Given the description of an element on the screen output the (x, y) to click on. 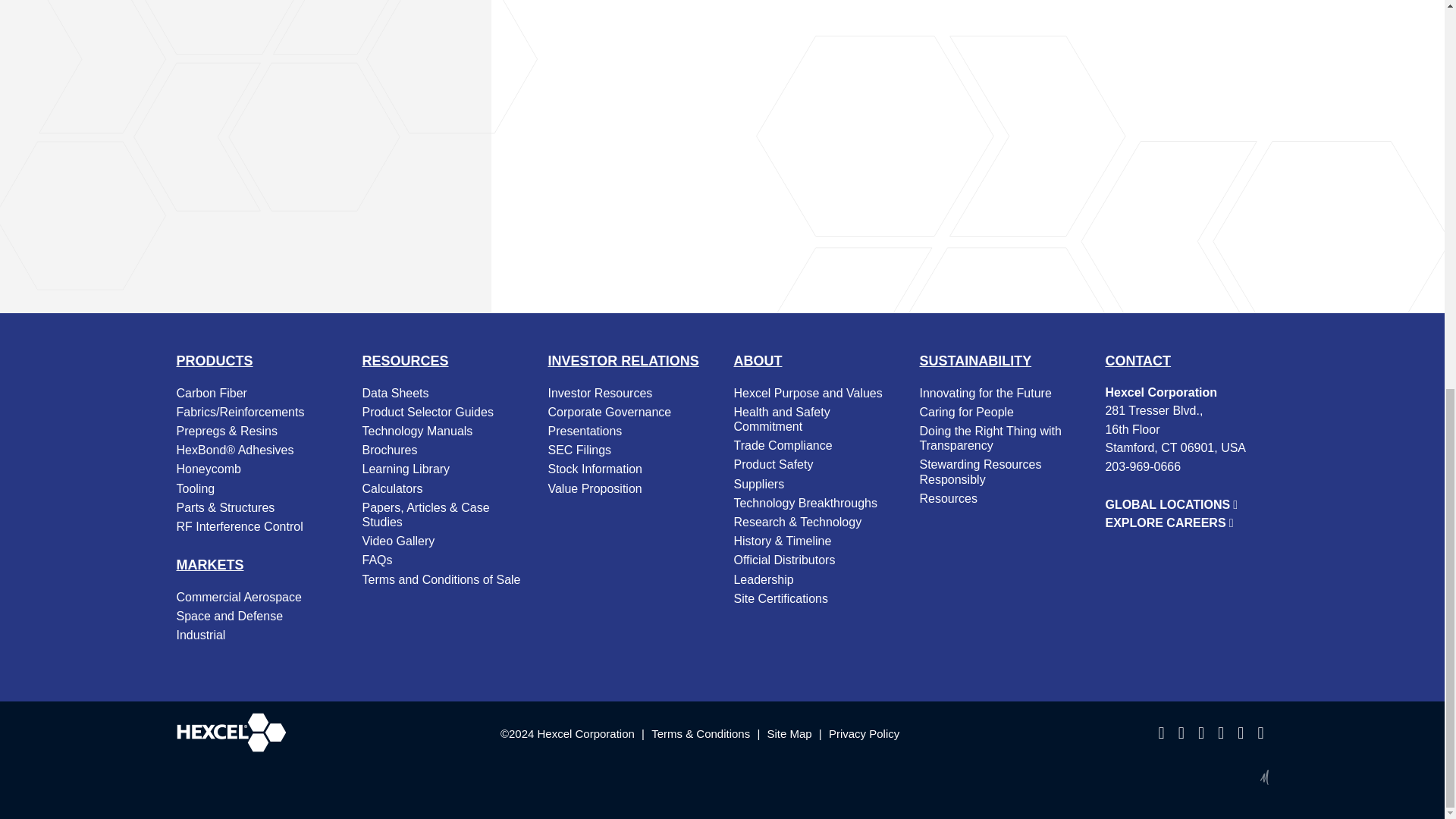
Space and Defense (257, 615)
MARKETS (209, 564)
Industrial (257, 634)
Tooling (257, 488)
Website by Moncur (1262, 776)
RF Interference Control (257, 526)
Honeycomb (257, 468)
Commercial Aerospace (257, 597)
PRODUCTS (213, 360)
Carbon Fiber (257, 393)
